Given the description of an element on the screen output the (x, y) to click on. 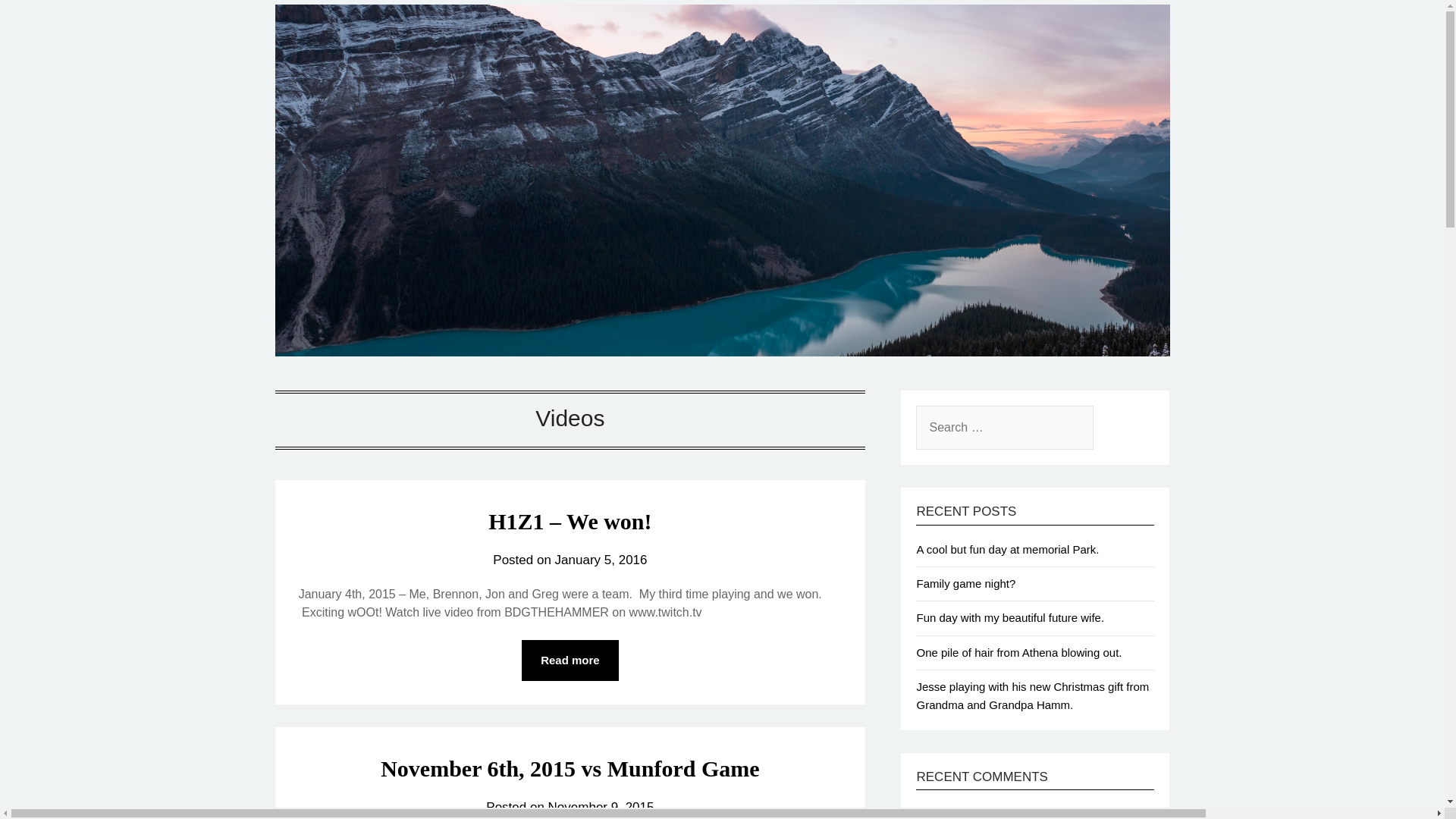
Read more (569, 659)
November 9, 2015 (600, 807)
January 5, 2016 (600, 559)
Family game night? (964, 583)
Fun day with my beautiful future wife. (1009, 617)
November 6th, 2015 vs Munford Game (569, 768)
dwaynehamm.com (427, 53)
A cool but fun day at memorial Park. (1007, 549)
One pile of hair from Athena blowing out. (1018, 652)
